Given the description of an element on the screen output the (x, y) to click on. 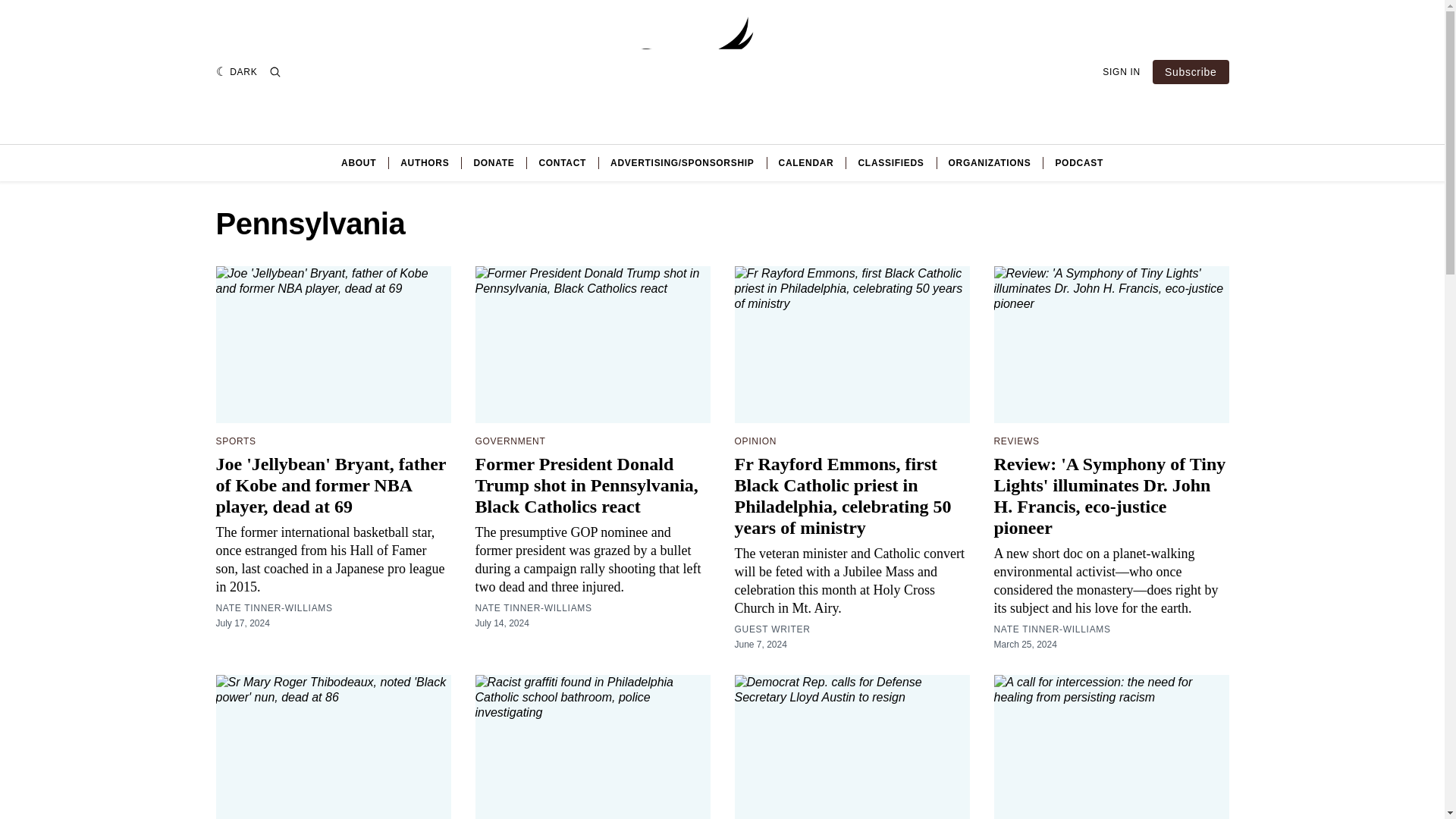
PODCAST (1078, 162)
Subscribe (1190, 71)
DARK (236, 71)
CALENDAR (806, 162)
DONATE (493, 162)
SIGN IN (1121, 71)
OPINION (754, 440)
GOVERNMENT (509, 440)
AUTHORS (424, 162)
